Given the description of an element on the screen output the (x, y) to click on. 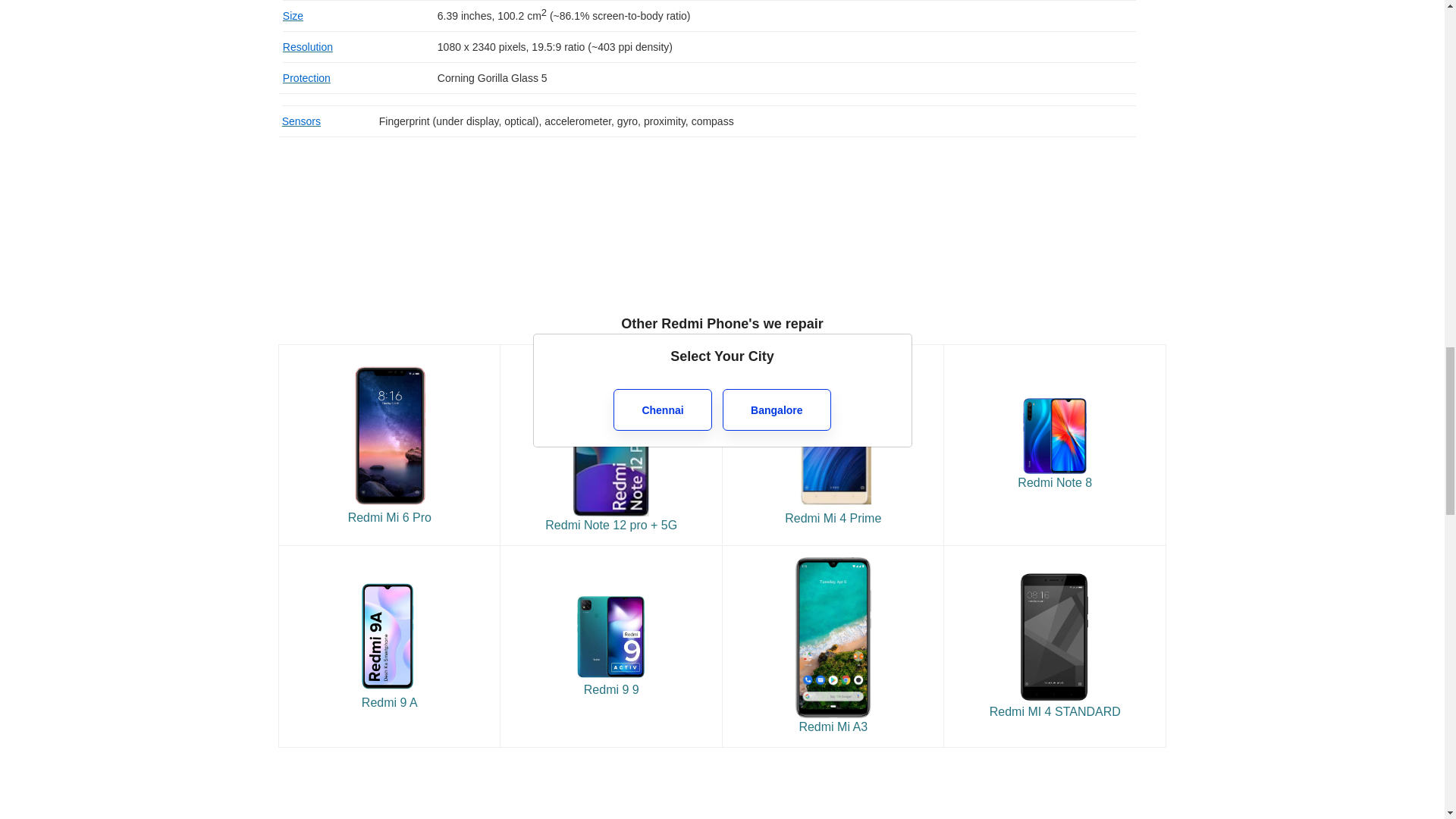
Protection (306, 78)
Sensors (301, 121)
Size (292, 15)
Resolution (307, 46)
